Given the description of an element on the screen output the (x, y) to click on. 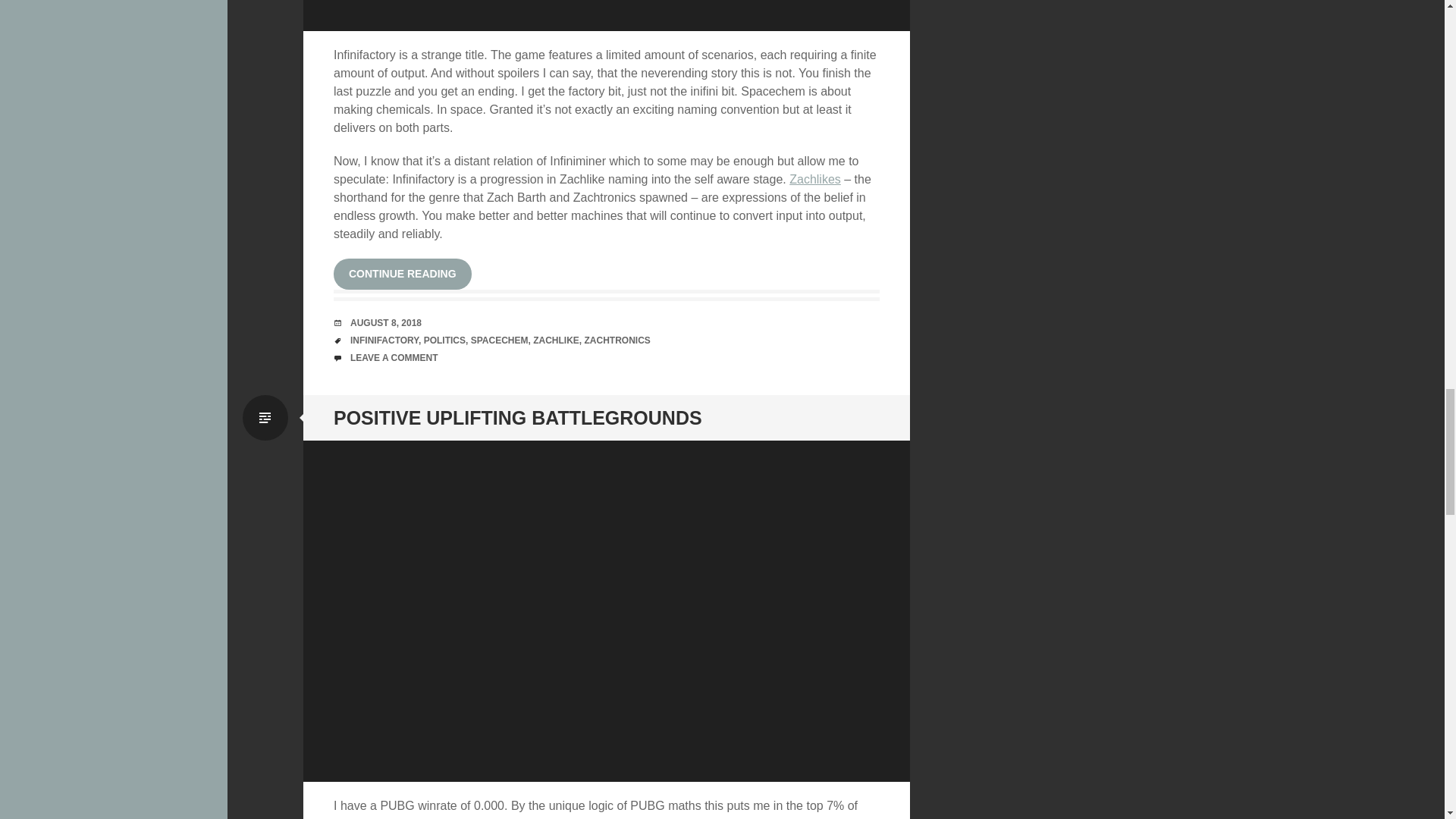
Permalink to The politics question mark of Infinifactory (606, 15)
2:00 am (386, 322)
